Given the description of an element on the screen output the (x, y) to click on. 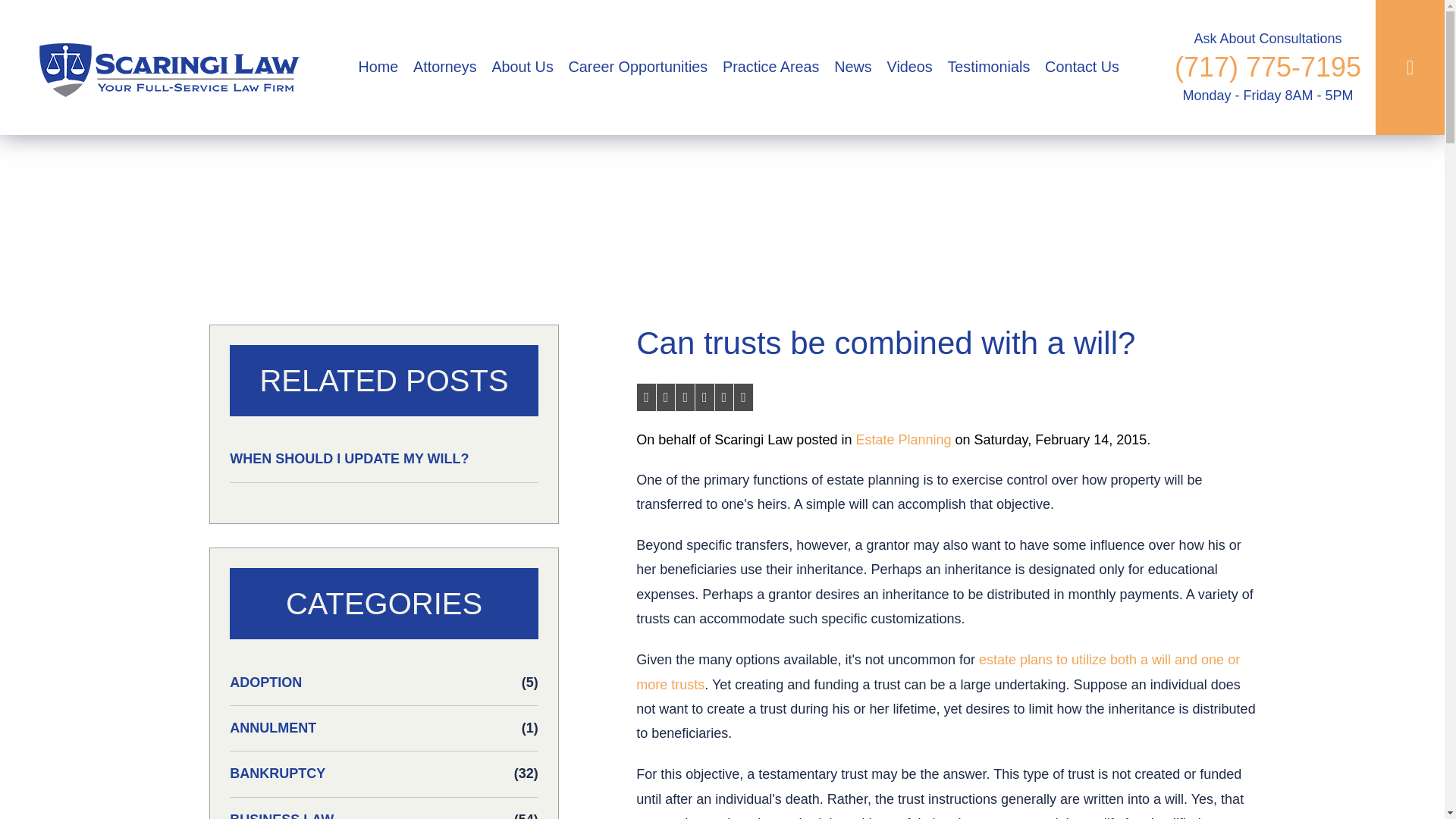
Scaringi Law (164, 67)
Career Opportunities (637, 67)
